Given the description of an element on the screen output the (x, y) to click on. 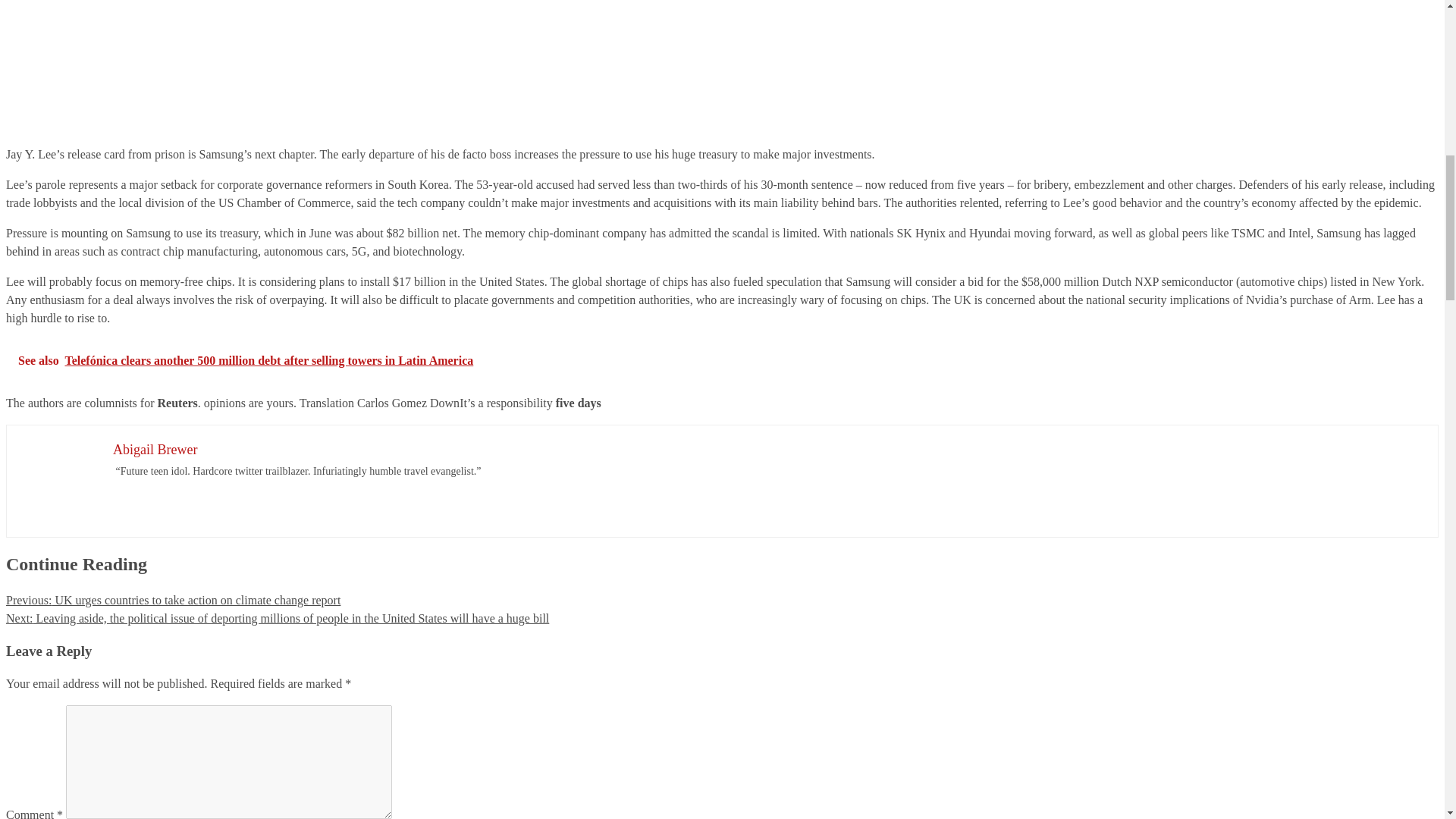
Abigail Brewer (154, 449)
